Given the description of an element on the screen output the (x, y) to click on. 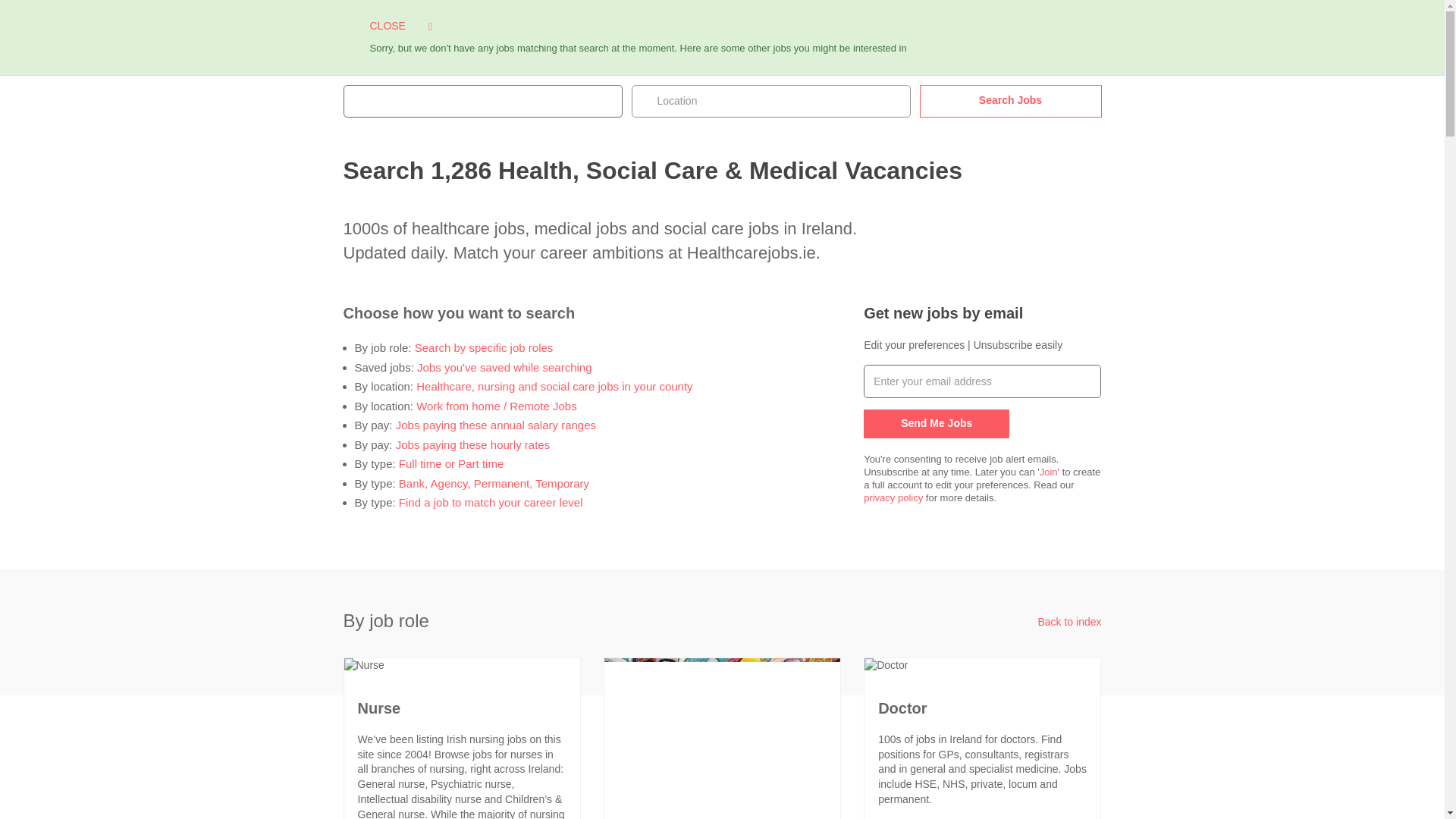
Healthcare, nursing and social care jobs in your county (554, 386)
Find a job to match your career level (490, 502)
CLOSE (400, 25)
Doctor (885, 665)
Saved (661, 29)
Join (1048, 471)
Back to index (1068, 622)
Full time or Part time (450, 463)
Send Me Jobs (936, 423)
privacy policy (893, 497)
Search Jobs (1009, 101)
Jobs you've saved while searching (504, 367)
Psychiatric Nurse (722, 736)
Healthcarejobs (420, 20)
Nurse (363, 665)
